Given the description of an element on the screen output the (x, y) to click on. 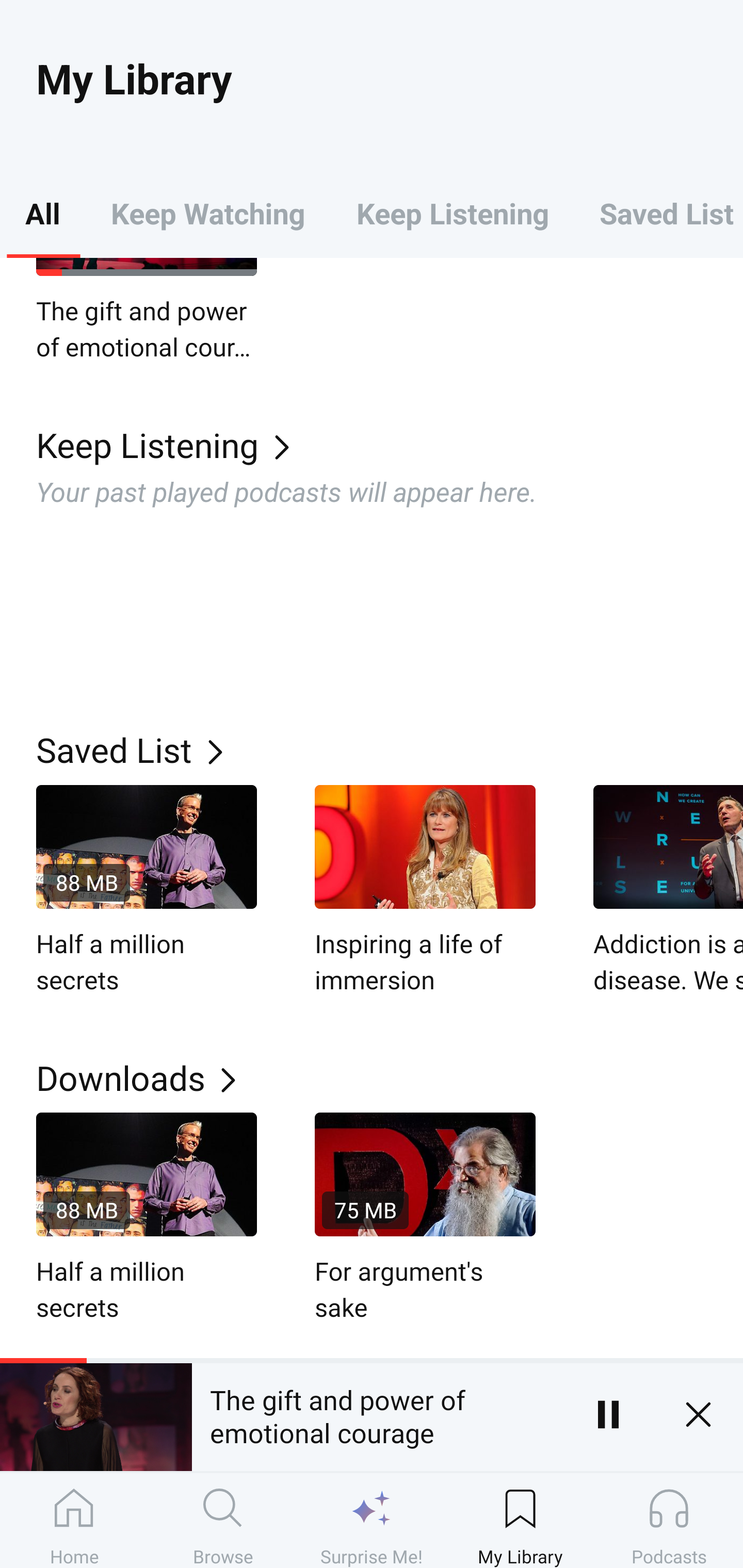
All (42, 212)
Keep Watching (207, 212)
Keep Listening (452, 212)
Saved List (658, 212)
The gift and power of emotional courage (146, 310)
Keep Listening (389, 444)
Saved List (389, 749)
88 MB Half a million secrets (146, 891)
Inspiring a life of immersion (425, 891)
Downloads (389, 1077)
88 MB Half a million secrets (146, 1218)
75 MB For argument's sake (425, 1218)
The gift and power of emotional courage (377, 1413)
Home (74, 1520)
Browse (222, 1520)
Surprise Me! (371, 1520)
My Library (519, 1520)
Podcasts (668, 1520)
